Given the description of an element on the screen output the (x, y) to click on. 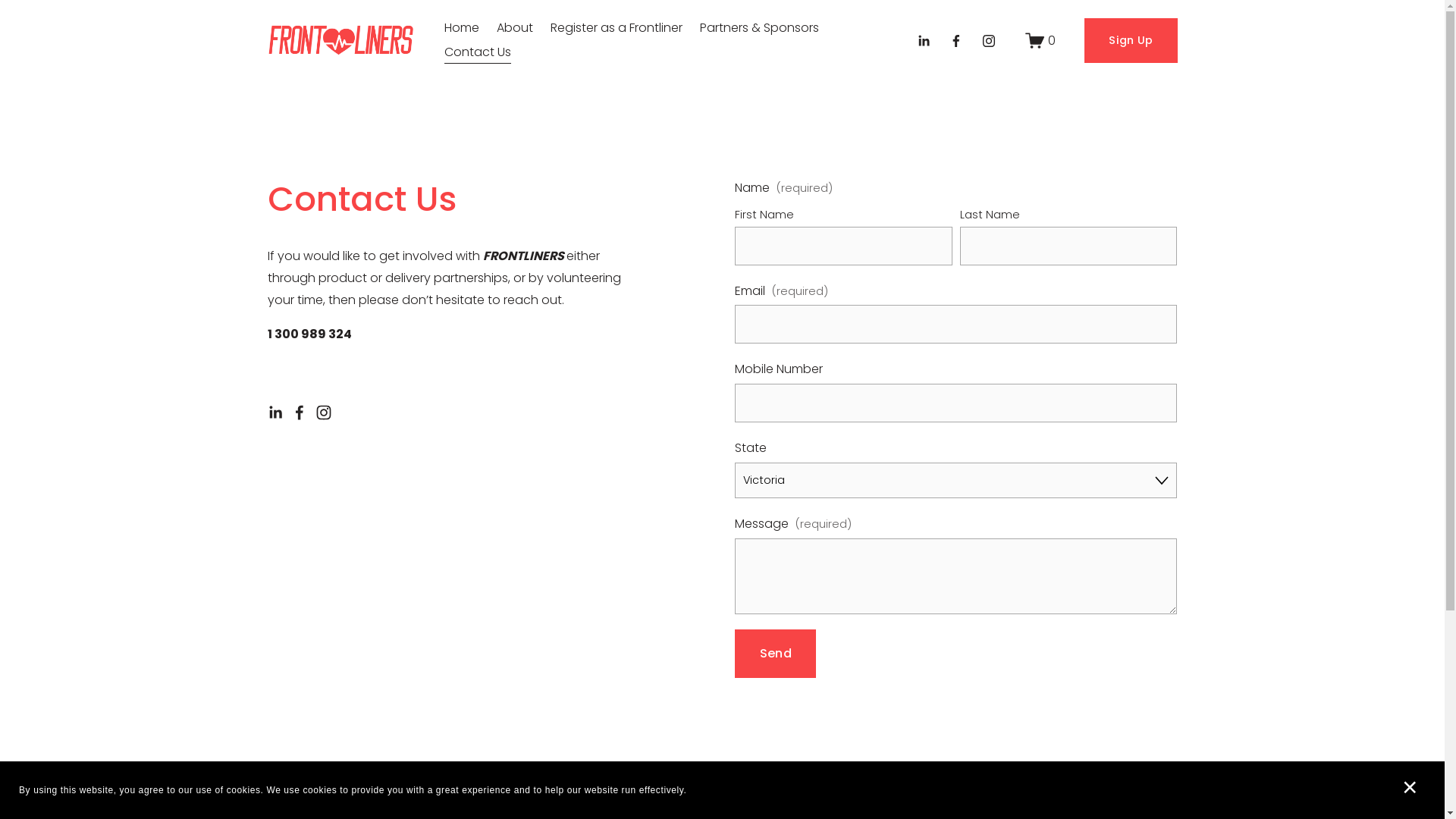
Partners & Sponsors Element type: text (759, 28)
Register as a Frontliner Element type: text (616, 28)
Contact Us Element type: text (477, 52)
Home Element type: text (461, 28)
0 Element type: text (1040, 40)
Send Element type: text (774, 653)
Sign Up Element type: text (1130, 40)
About Element type: text (514, 28)
